Given the description of an element on the screen output the (x, y) to click on. 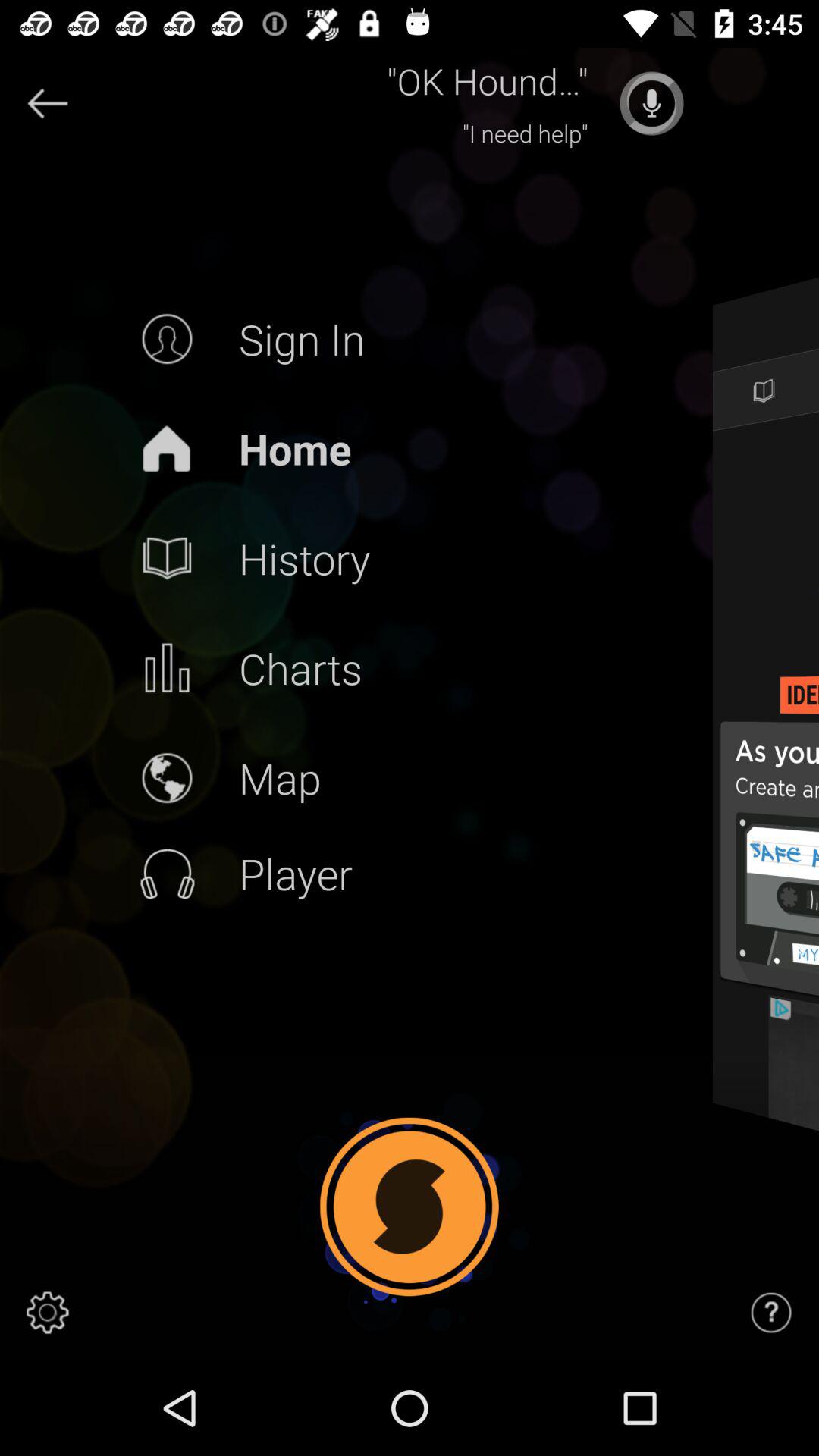
go back (47, 103)
